Given the description of an element on the screen output the (x, y) to click on. 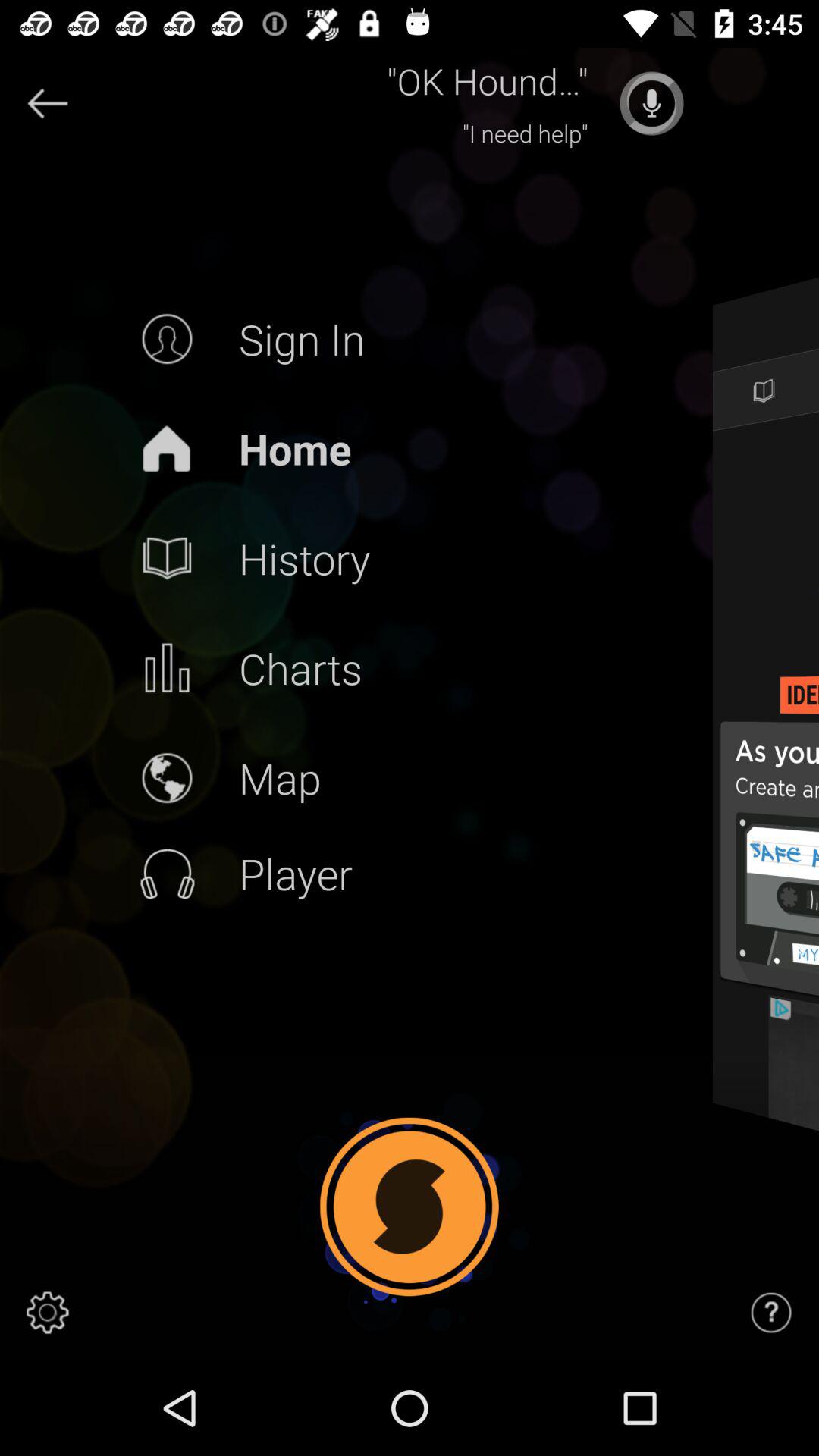
go back (47, 103)
